Given the description of an element on the screen output the (x, y) to click on. 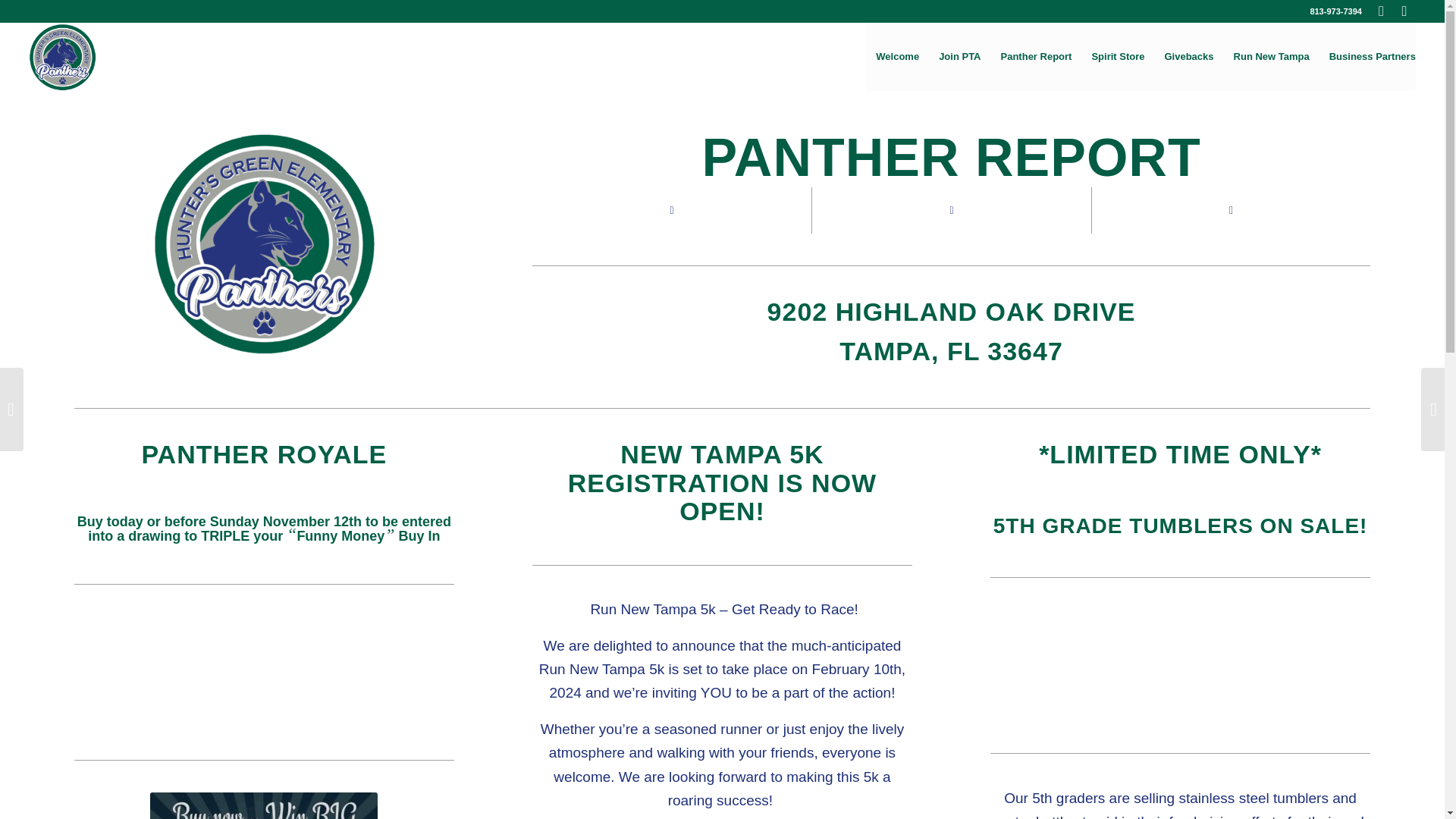
Givebacks (1188, 56)
Panther Report (1036, 56)
Business Partners (1367, 56)
Facebook (1380, 11)
Run New Tampa (1271, 56)
Welcome (897, 56)
Instagram (1404, 11)
Spirit Store (1117, 56)
Join PTA (959, 56)
